Given the description of an element on the screen output the (x, y) to click on. 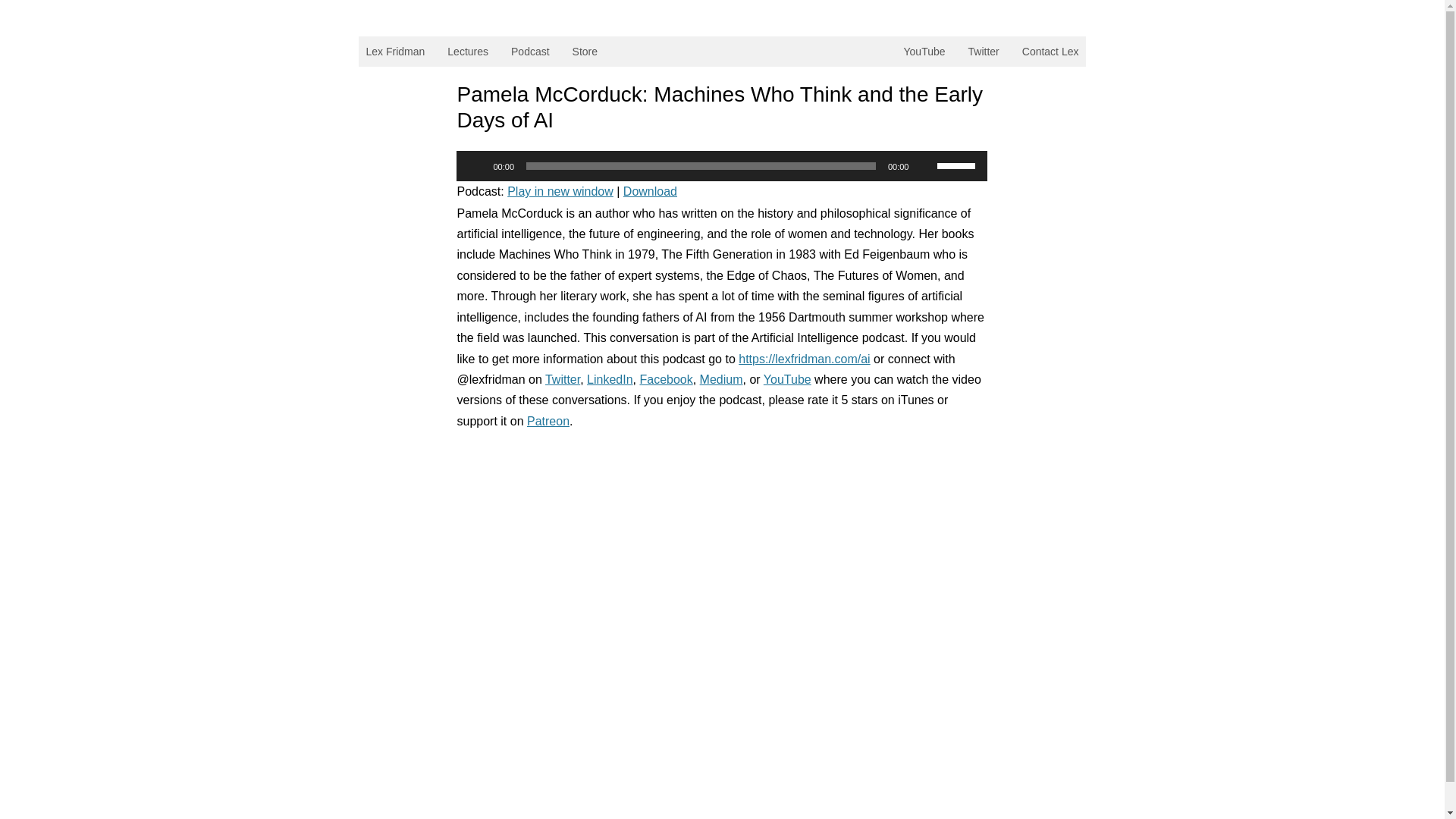
Play in new window (559, 191)
Lectures (467, 51)
Play in new window (559, 191)
Twitter (561, 379)
YouTube (786, 379)
Download (650, 191)
Download (650, 191)
Contact Lex (1050, 51)
Play (475, 165)
Facebook (666, 379)
